Given the description of an element on the screen output the (x, y) to click on. 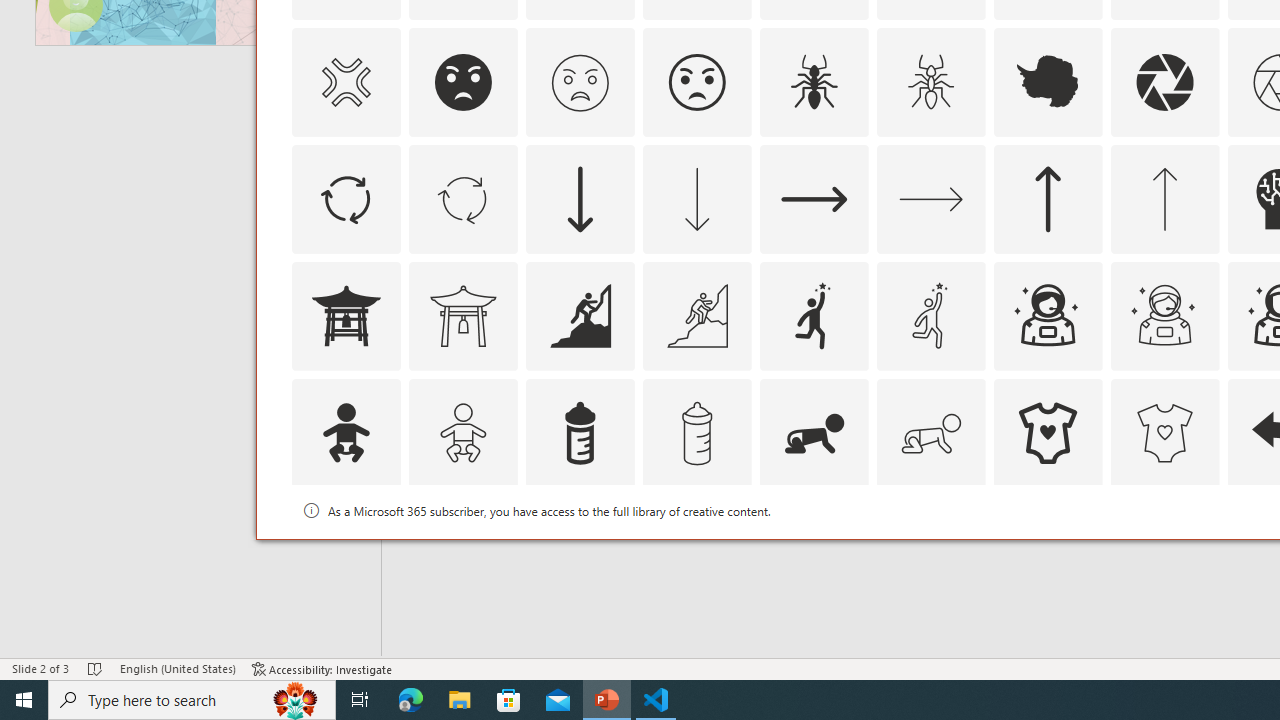
AutomationID: Icons_BabyOnesie (1048, 432)
AutomationID: Icons_ArrowUp (1048, 198)
AutomationID: Icons_ArrowUp_M (1164, 198)
AutomationID: Icons_Badge4 (930, 550)
AutomationID: Icons_Ant_M (930, 82)
AutomationID: Icons_Aspiration (579, 316)
AutomationID: Icons_Badge3 (696, 550)
